Given the description of an element on the screen output the (x, y) to click on. 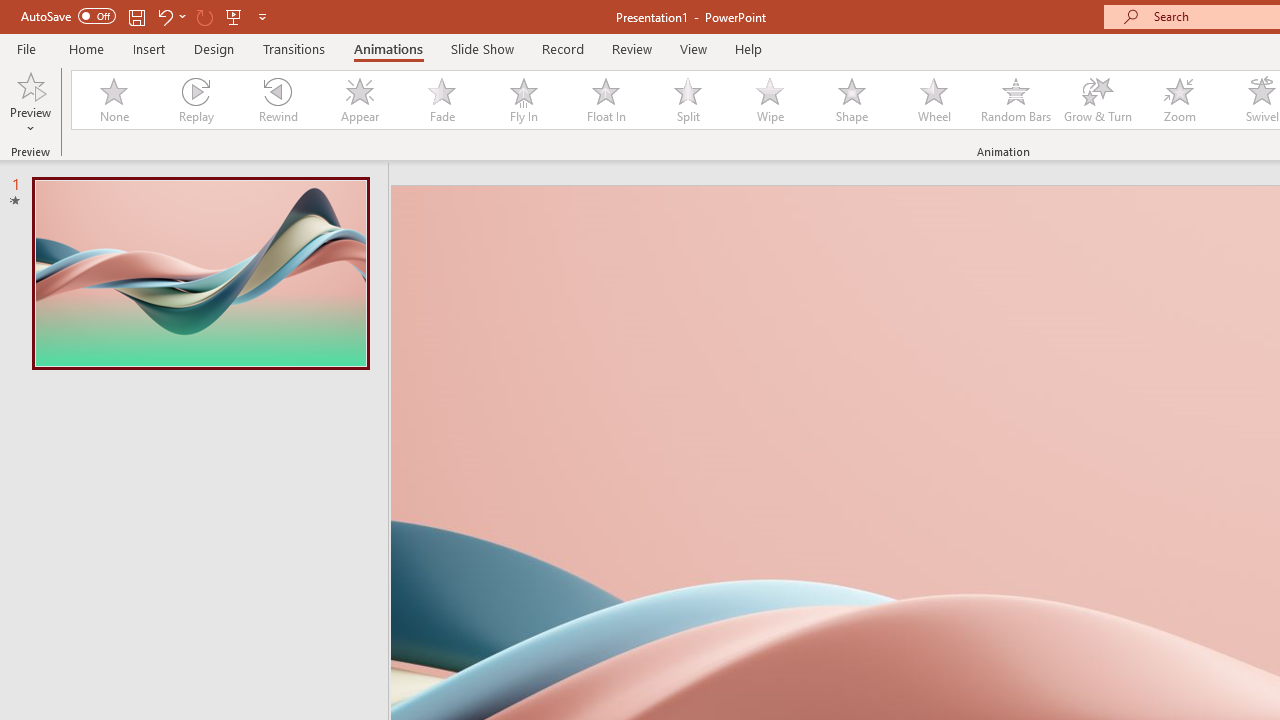
Random Bars (1016, 100)
Replay (195, 100)
Appear (359, 100)
Shape (852, 100)
Wipe (770, 100)
Wheel (934, 100)
